Given the description of an element on the screen output the (x, y) to click on. 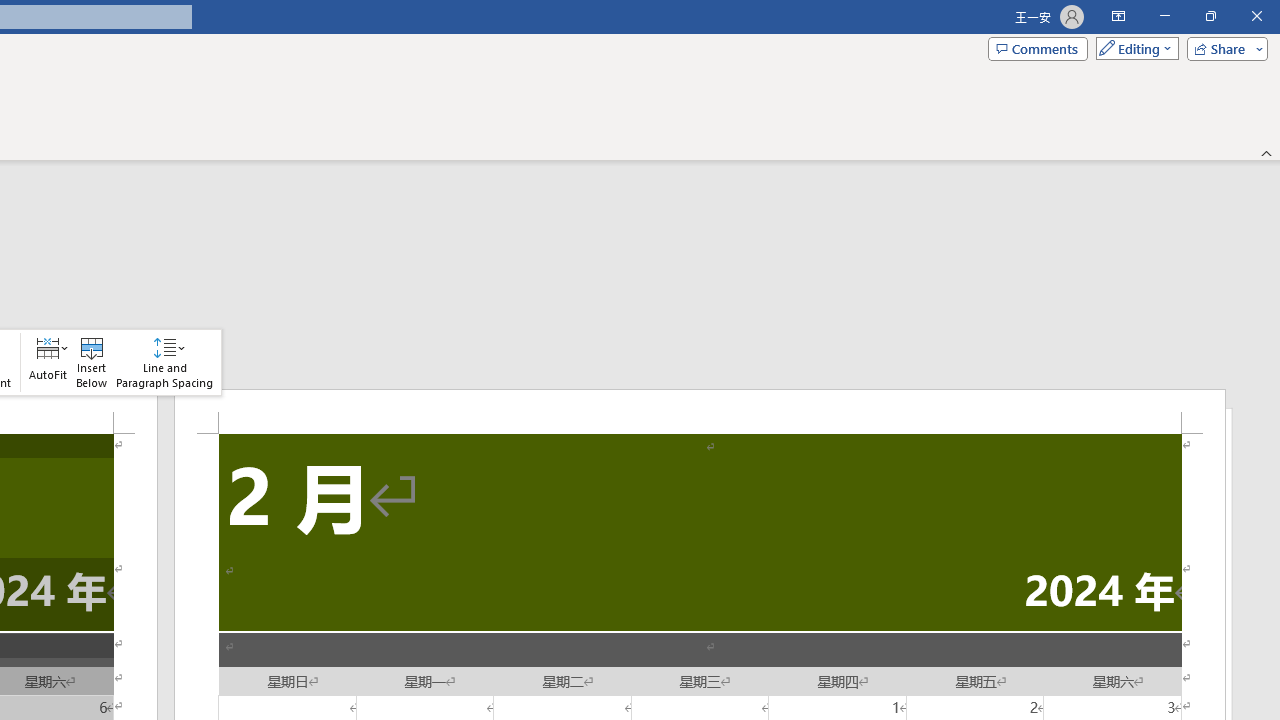
Class: NetUIAnchor (164, 361)
AutoFit (48, 361)
Header -Section 2- (700, 411)
Insert Below (91, 361)
